Given the description of an element on the screen output the (x, y) to click on. 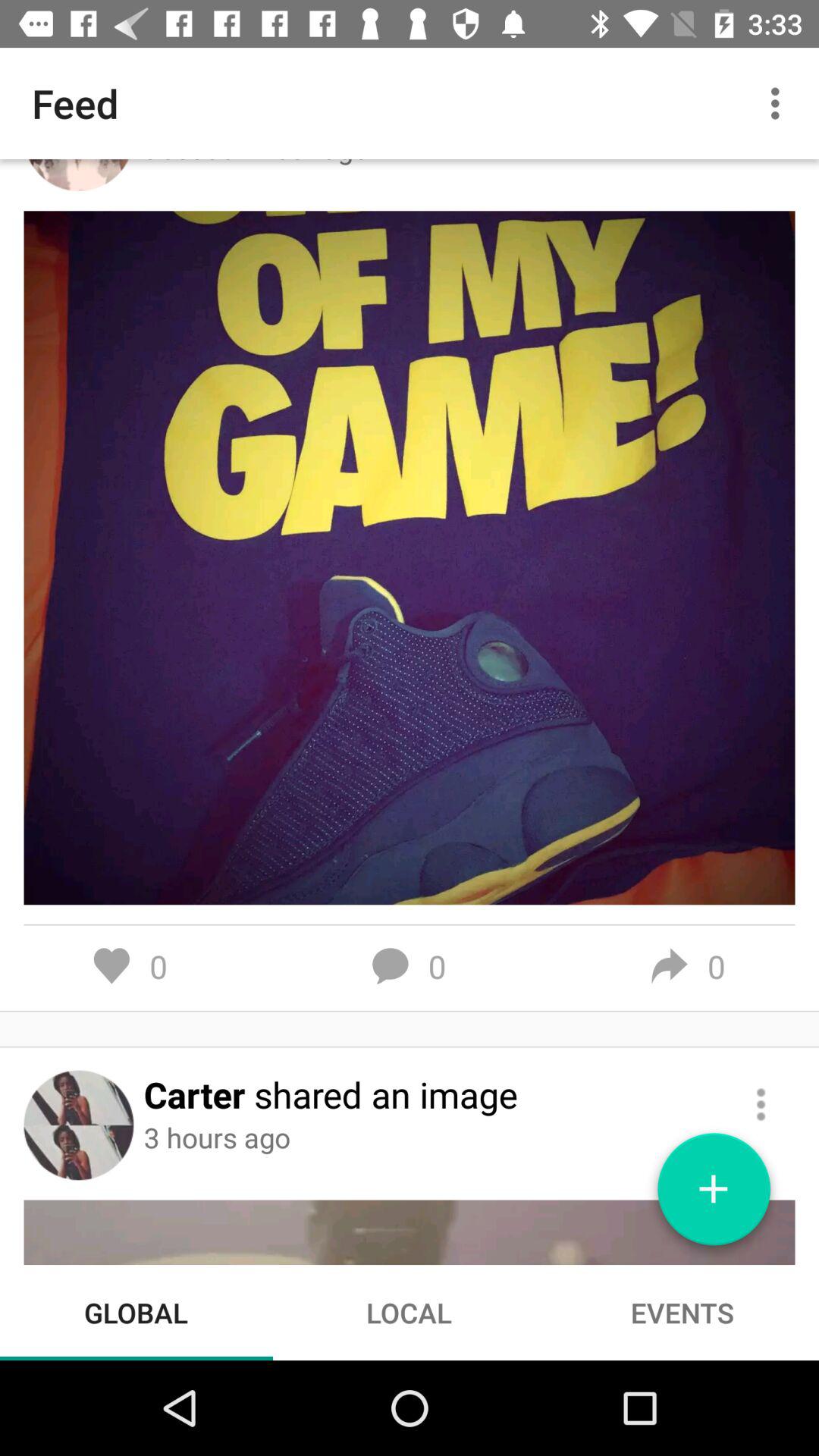
click option (760, 1104)
